Given the description of an element on the screen output the (x, y) to click on. 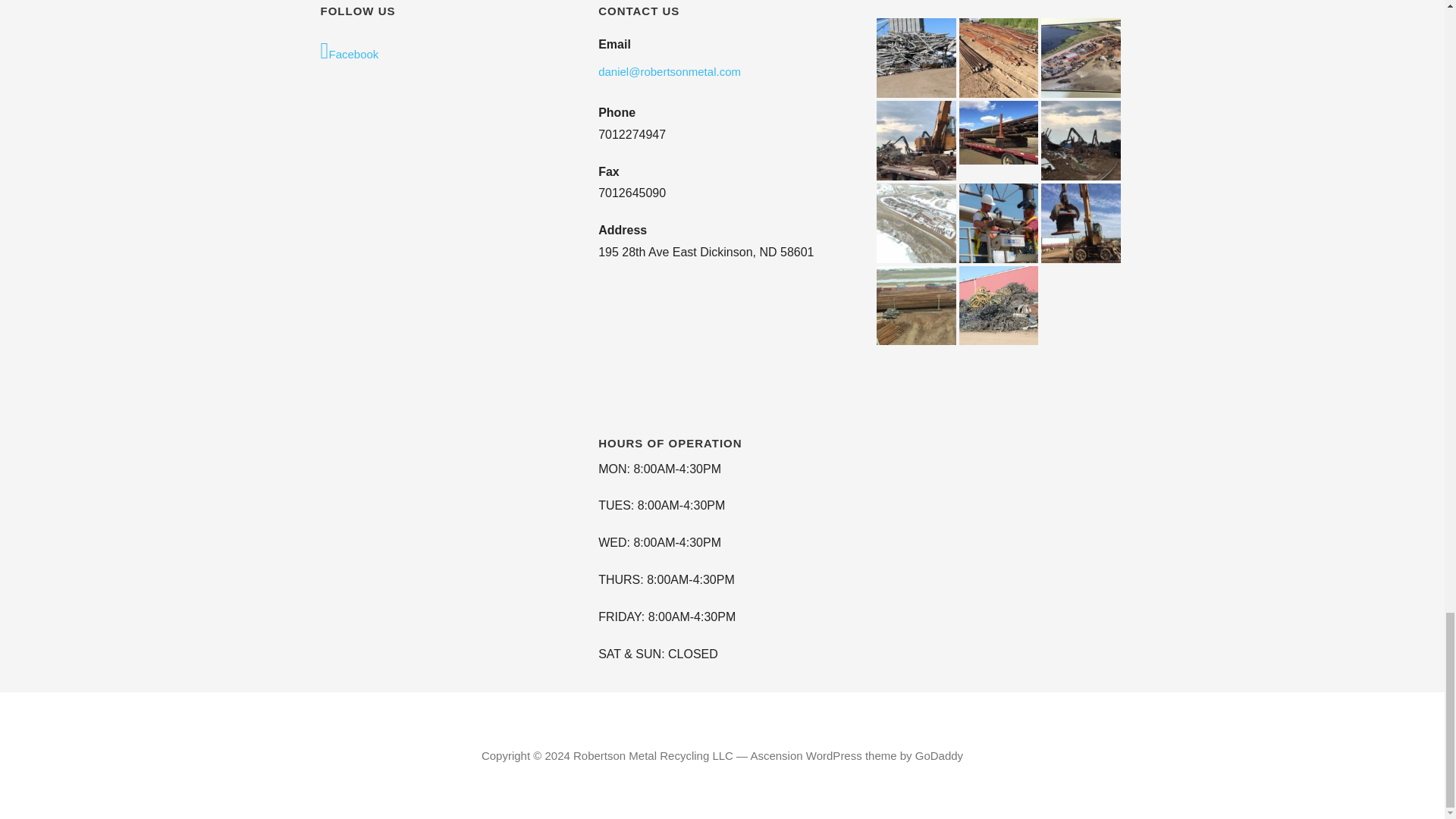
Facebook (443, 51)
GoDaddy (938, 755)
Visit Robertson Metal Recycling LLC  on Facebook (443, 51)
